Given the description of an element on the screen output the (x, y) to click on. 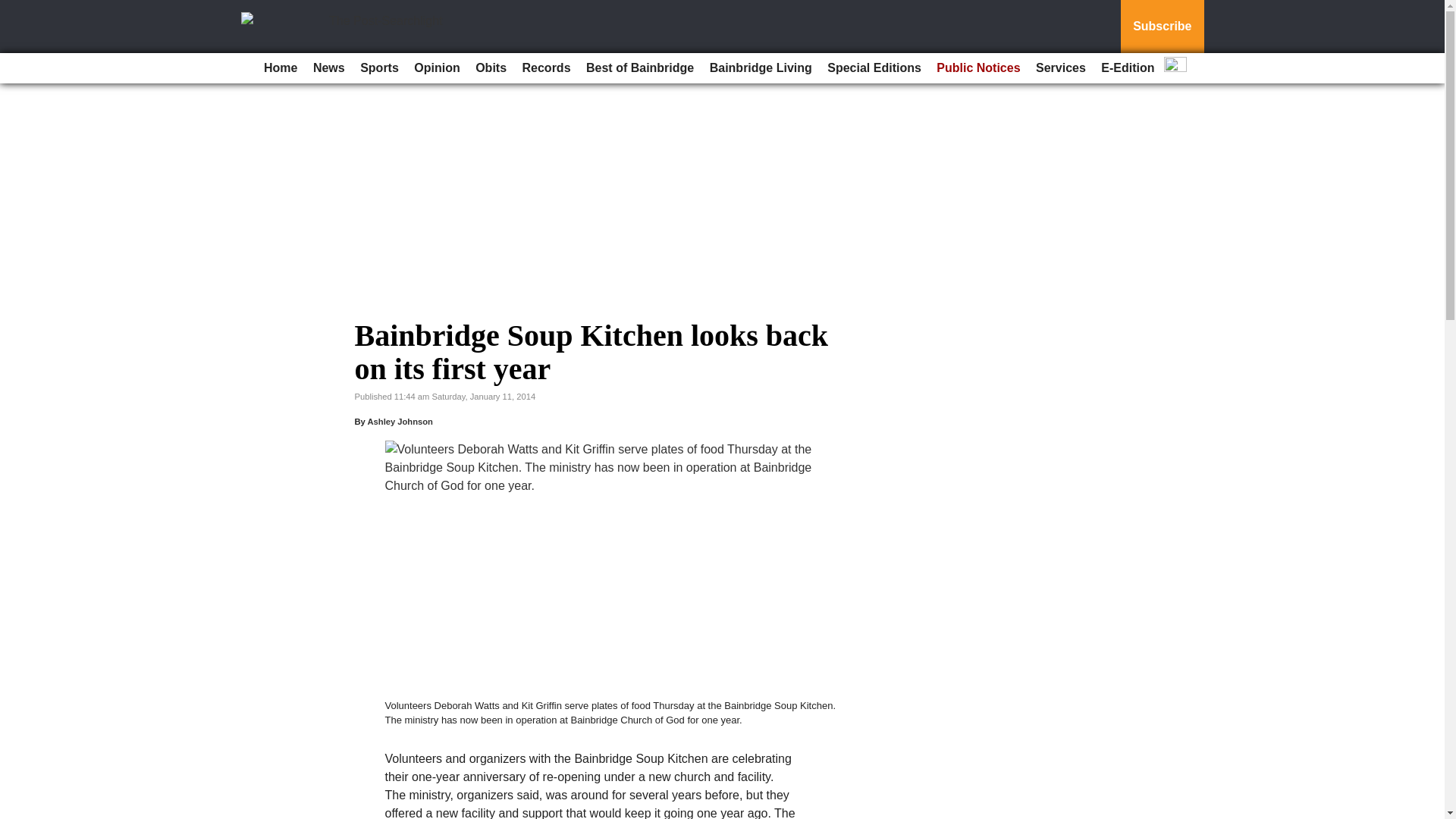
Public Notices (978, 68)
Sports (378, 68)
Bainbridge Living (760, 68)
Best of Bainbridge (639, 68)
Home (279, 68)
Subscribe (1162, 26)
Special Editions (874, 68)
Obits (490, 68)
Services (1060, 68)
E-Edition (1127, 68)
